Given the description of an element on the screen output the (x, y) to click on. 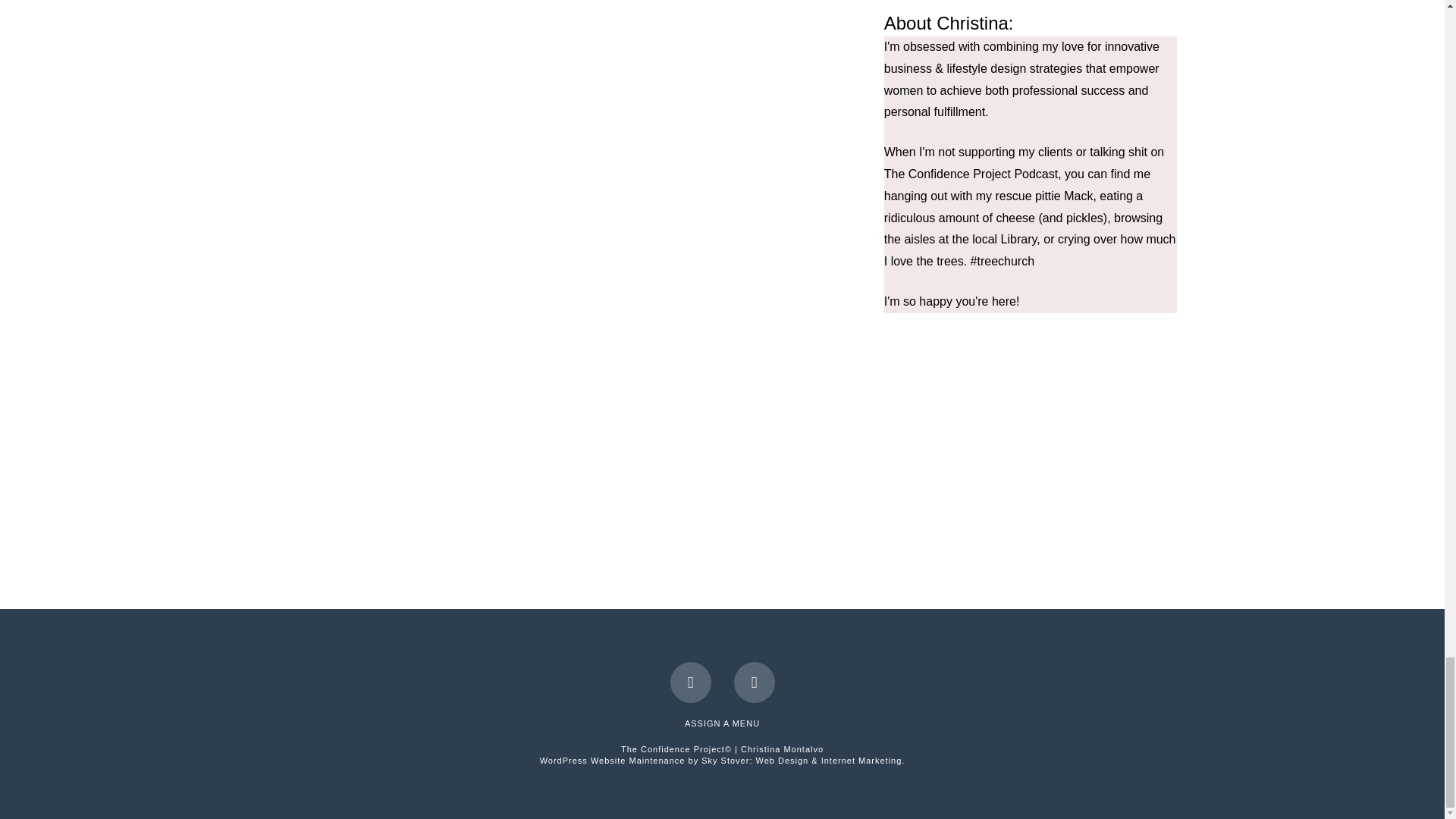
ASSIGN A MENU (722, 723)
Instagram (690, 681)
RSS (753, 681)
WordPress Website Maintenance (722, 759)
